Given the description of an element on the screen output the (x, y) to click on. 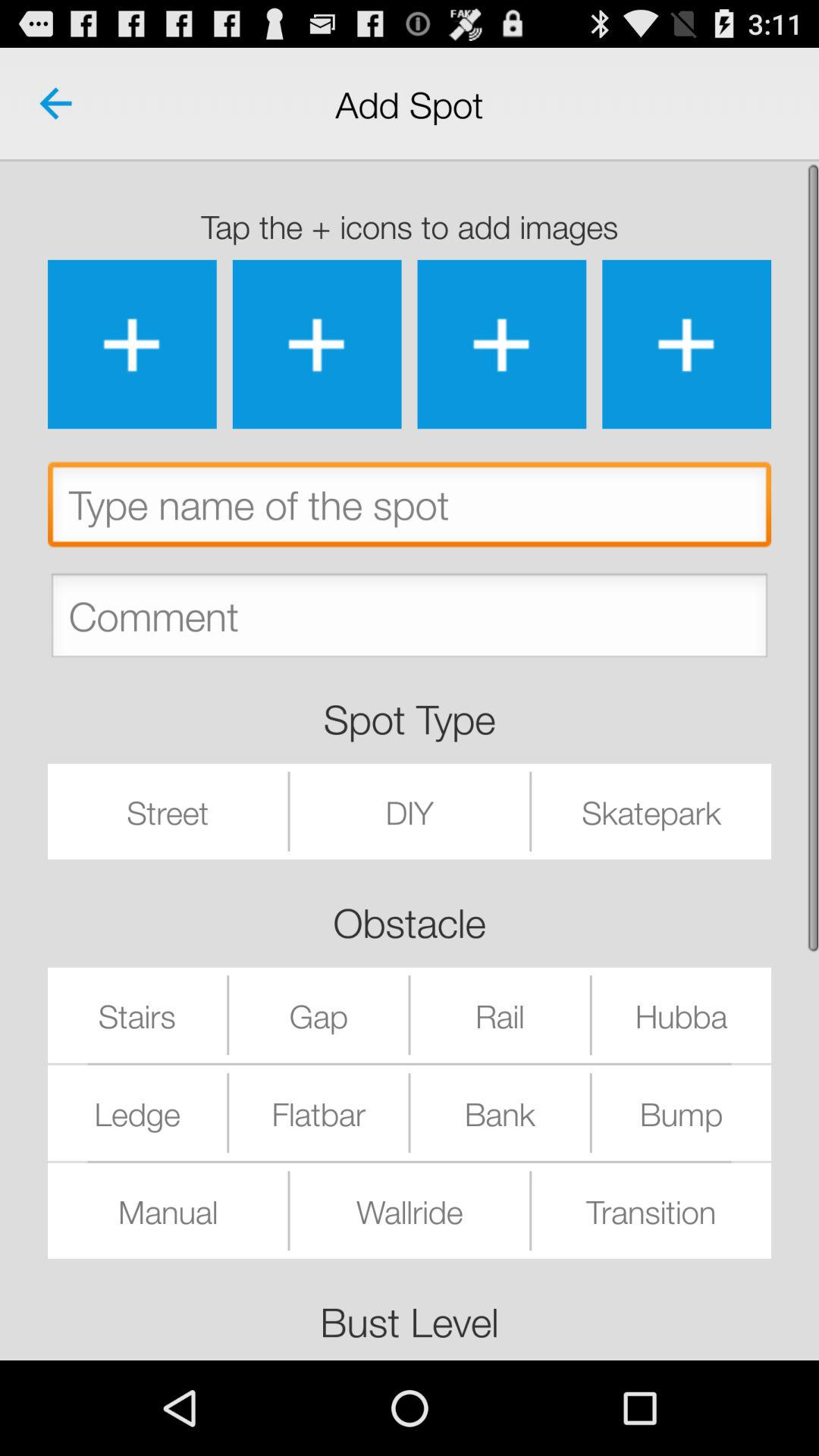
type name row (409, 508)
